Given the description of an element on the screen output the (x, y) to click on. 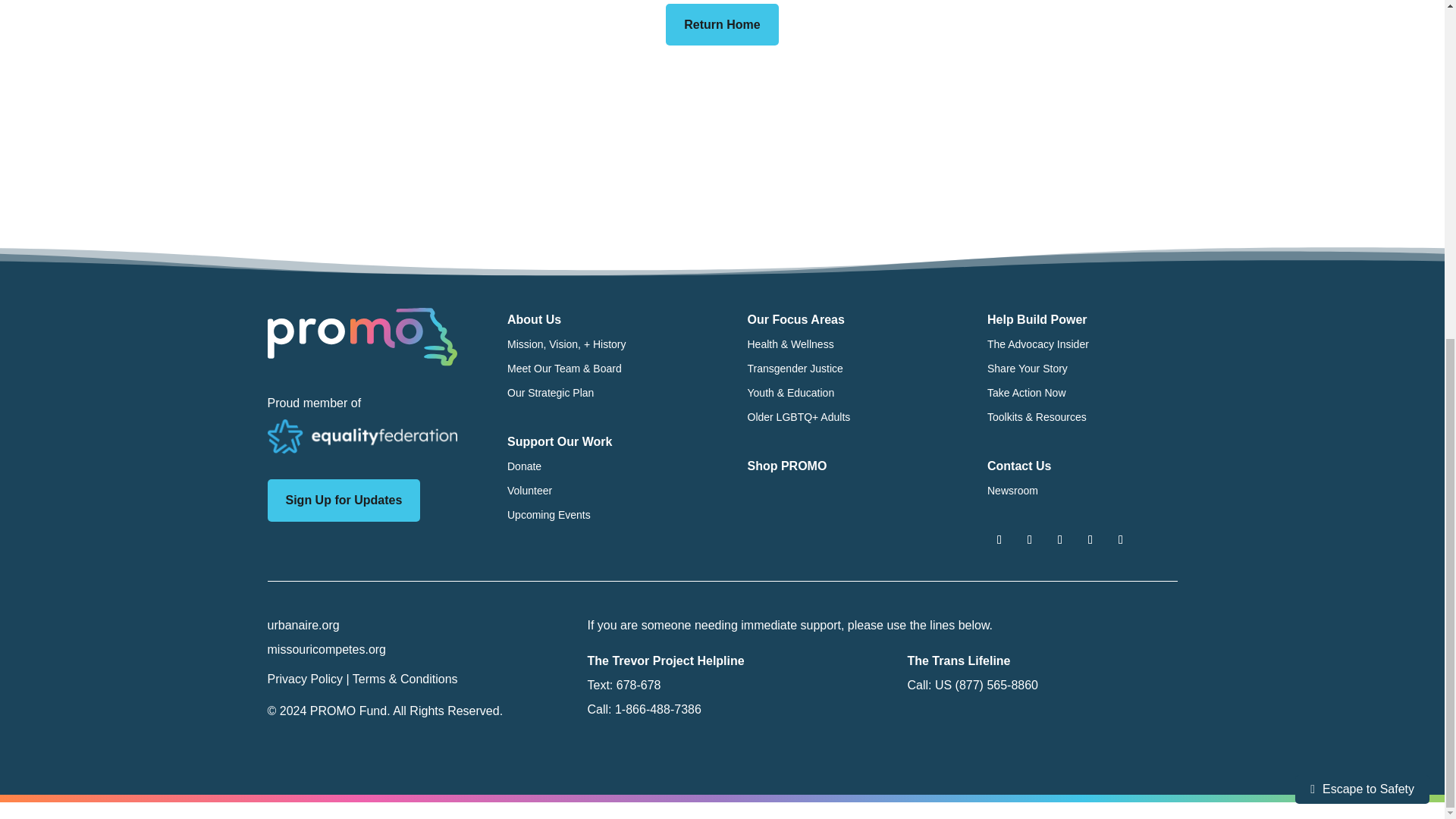
Follow on X (1029, 539)
equality-federation-logo (361, 436)
Follow on TikTok (1090, 539)
Follow on Facebook (999, 539)
Follow on Instagram (1059, 539)
Follow on LinkedIn (1120, 539)
Escape to Safety (1362, 215)
